Given the description of an element on the screen output the (x, y) to click on. 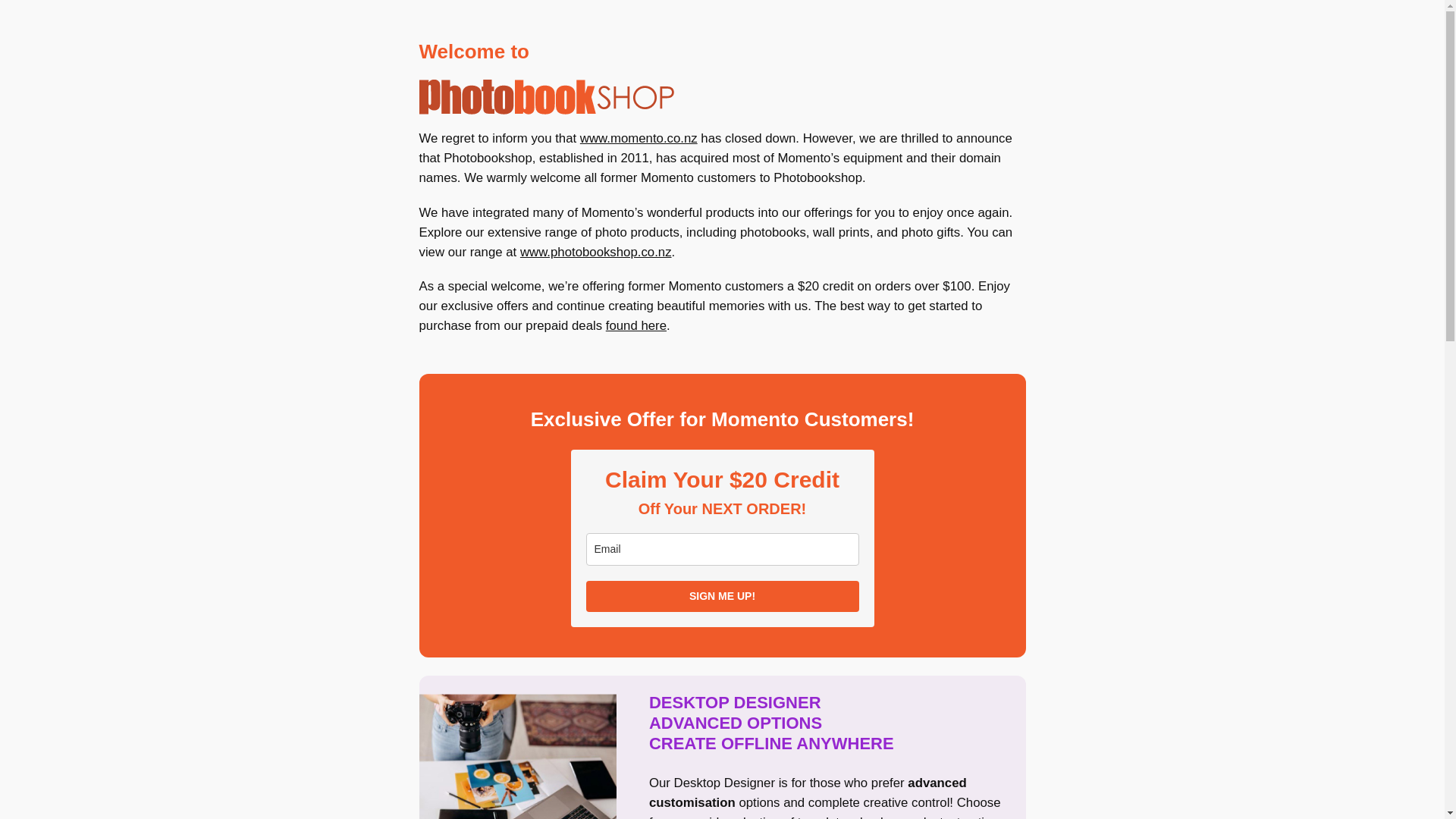
found here (635, 325)
www.photobookshop.co.nz (595, 251)
www.momento.co.nz (638, 138)
SIGN ME UP! (722, 595)
